Given the description of an element on the screen output the (x, y) to click on. 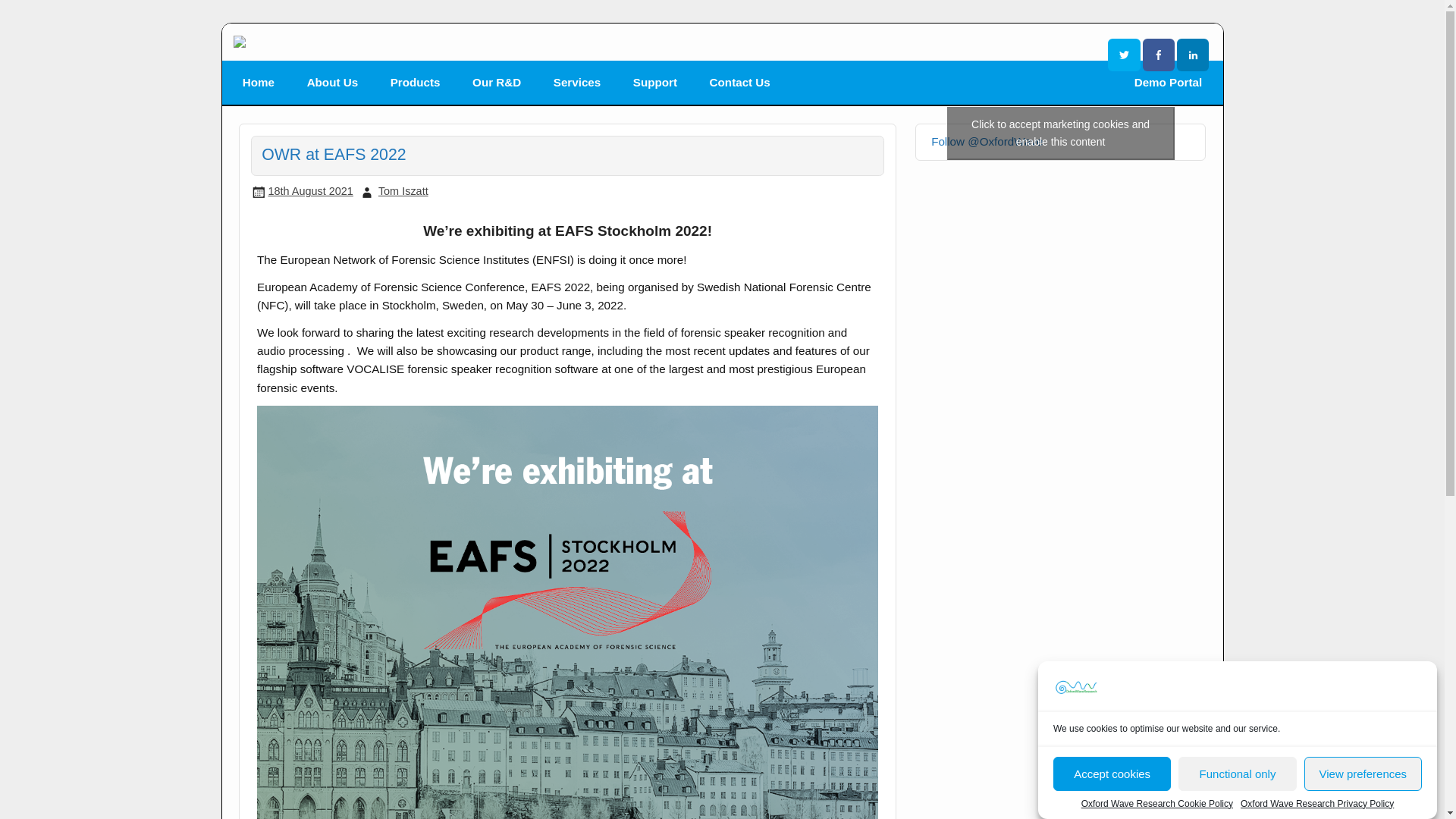
View all posts by Tom Iszatt (403, 191)
10:23 am (309, 191)
About Us (331, 82)
Products (414, 82)
Home (259, 82)
View preferences (1363, 816)
